Given the description of an element on the screen output the (x, y) to click on. 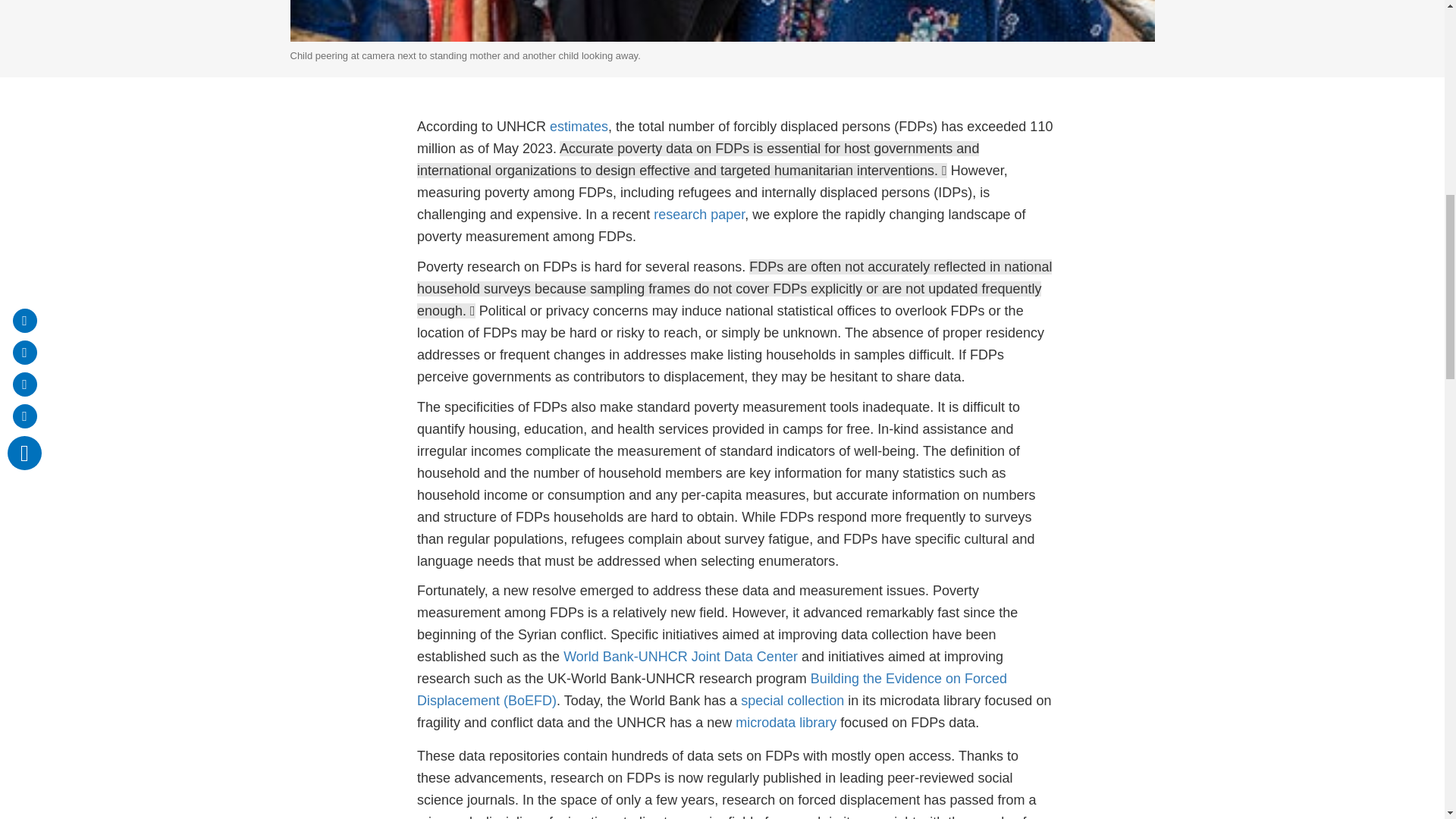
estimates (579, 126)
research paper (698, 214)
microdata library (785, 722)
special collection (792, 700)
World Bank-UNHCR Joint Data Center (680, 656)
